Given the description of an element on the screen output the (x, y) to click on. 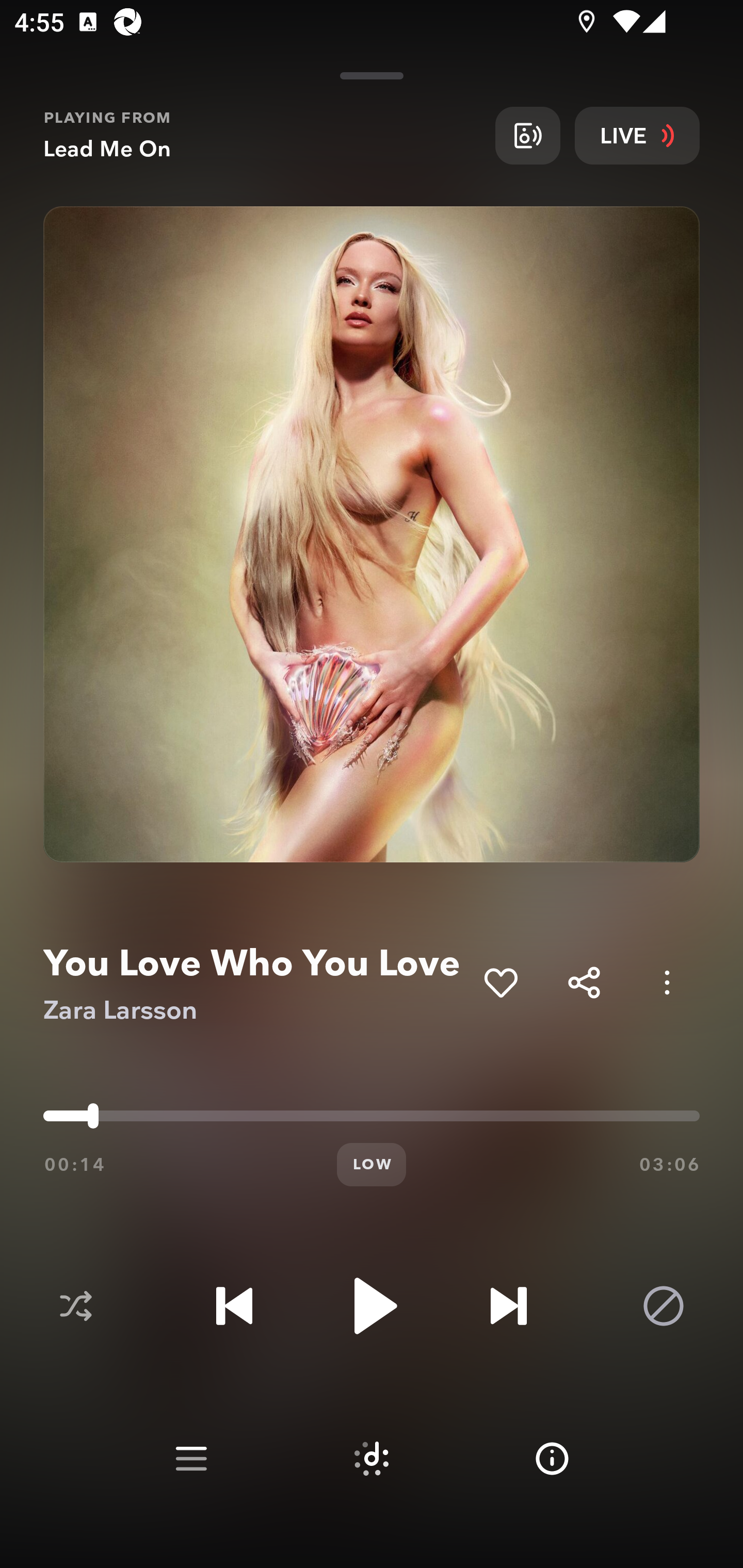
Broadcast (527, 135)
LIVE (637, 135)
PLAYING FROM Lead Me On (261, 135)
You Love Who You Love Zara Larsson (255, 983)
Add to My Collection (500, 982)
Share (583, 982)
Options (666, 982)
LOW (371, 1164)
Play (371, 1306)
Previous (234, 1306)
Next (508, 1306)
Block (663, 1306)
Shuffle disabled (75, 1306)
Play queue (191, 1458)
Suggested tracks (371, 1458)
Info (551, 1458)
